Given the description of an element on the screen output the (x, y) to click on. 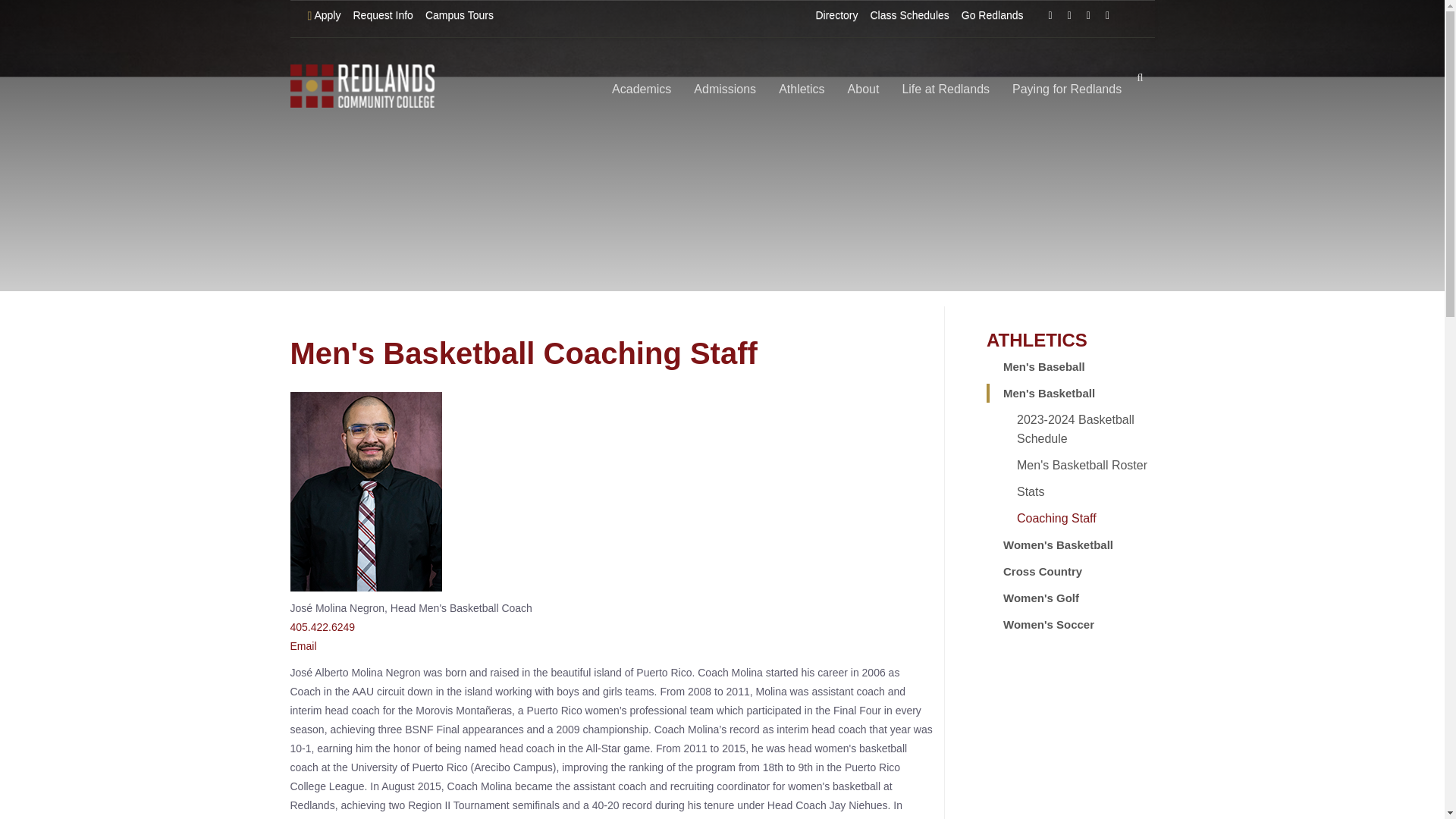
Class Schedules (909, 15)
Listing of Redlands Faculty and Staff (836, 15)
Academics (640, 88)
Campus Tours (459, 15)
Admissions (724, 88)
Go Redlands (992, 15)
Apply (324, 15)
Request Info (382, 15)
Athletics (801, 88)
